Given the description of an element on the screen output the (x, y) to click on. 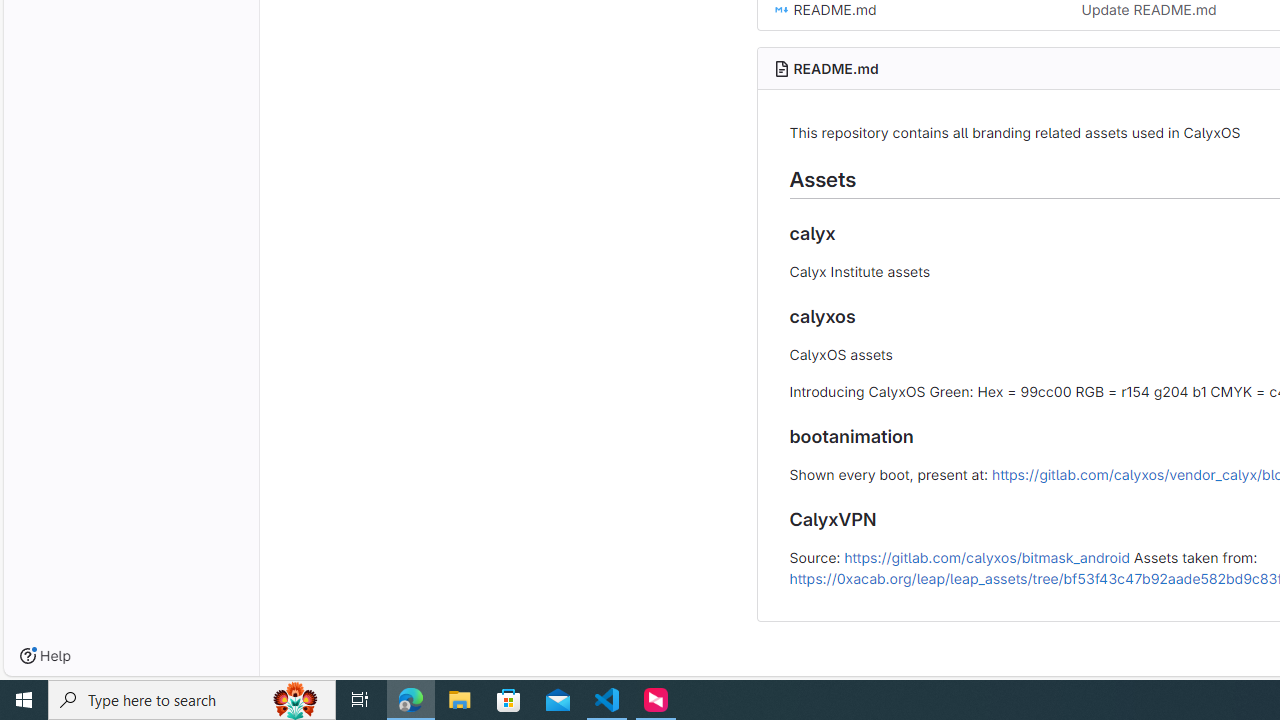
README.md (836, 68)
https://gitlab.com/calyxos/bitmask_android (986, 556)
Class: s16 position-relative file-icon (781, 10)
